Given the description of an element on the screen output the (x, y) to click on. 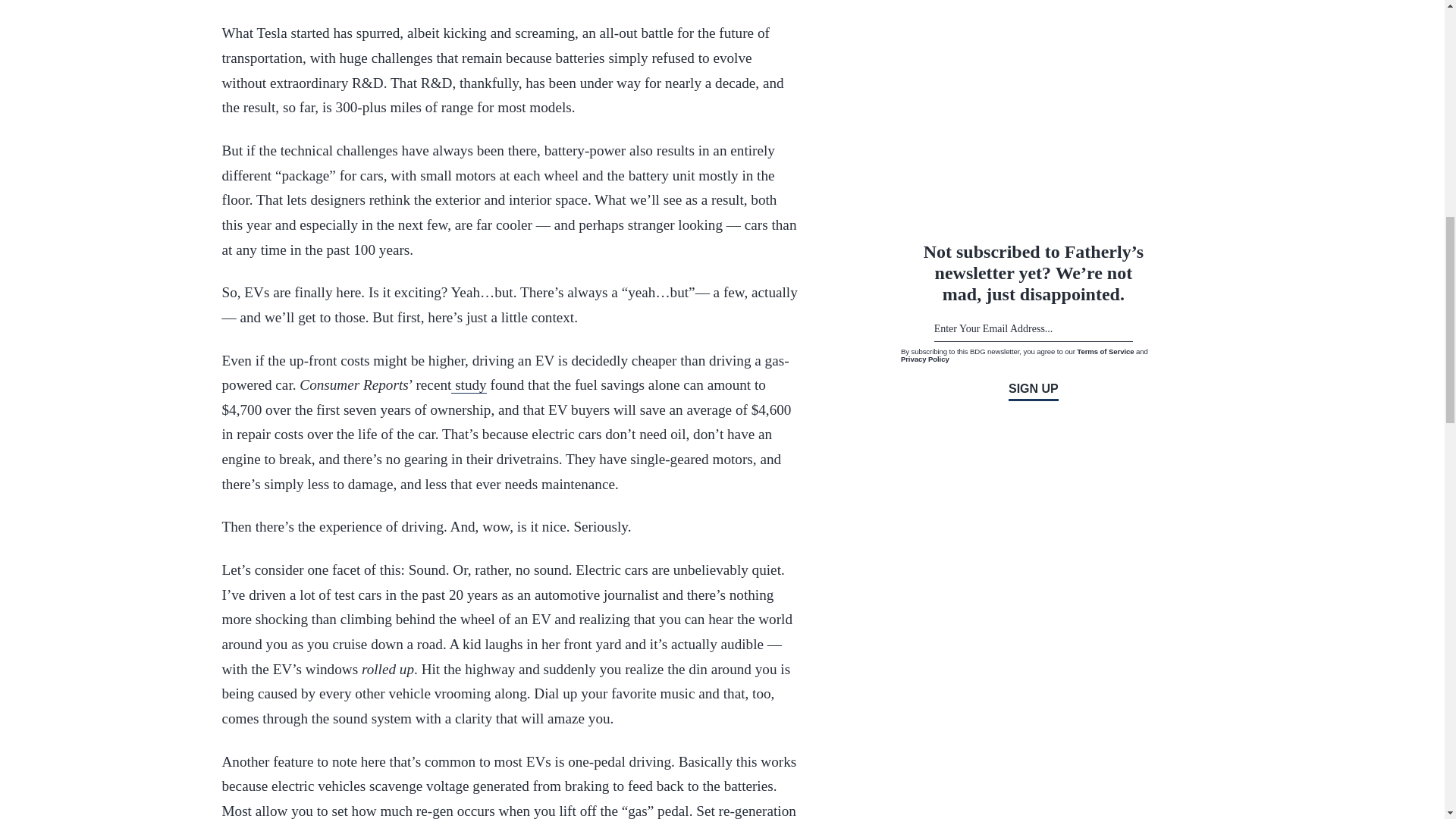
Privacy Policy (925, 358)
study (468, 384)
Terms of Service (1105, 350)
SIGN UP (1033, 389)
